Given the description of an element on the screen output the (x, y) to click on. 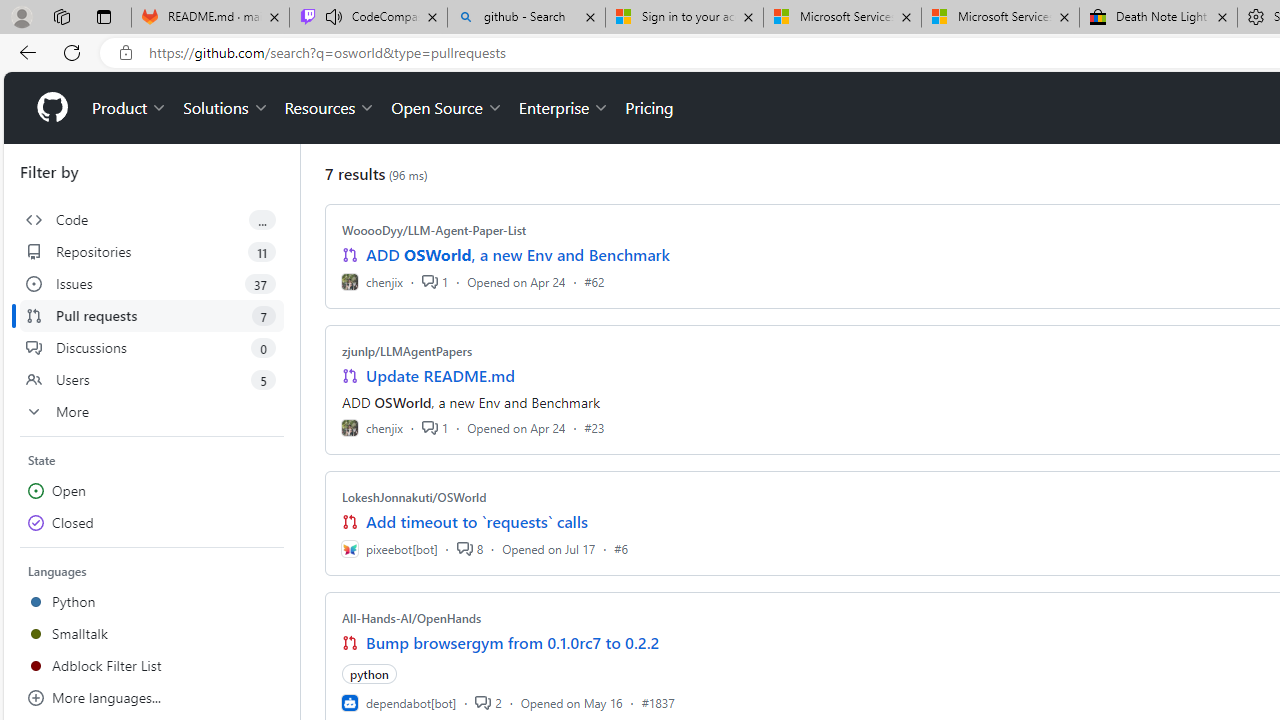
chenjix (372, 427)
1 (435, 427)
Enterprise (563, 107)
#62 (594, 281)
Personal Profile (21, 16)
Pricing (649, 107)
More languages... (152, 697)
#23 (594, 427)
dependabot[bot] (398, 702)
